Given the description of an element on the screen output the (x, y) to click on. 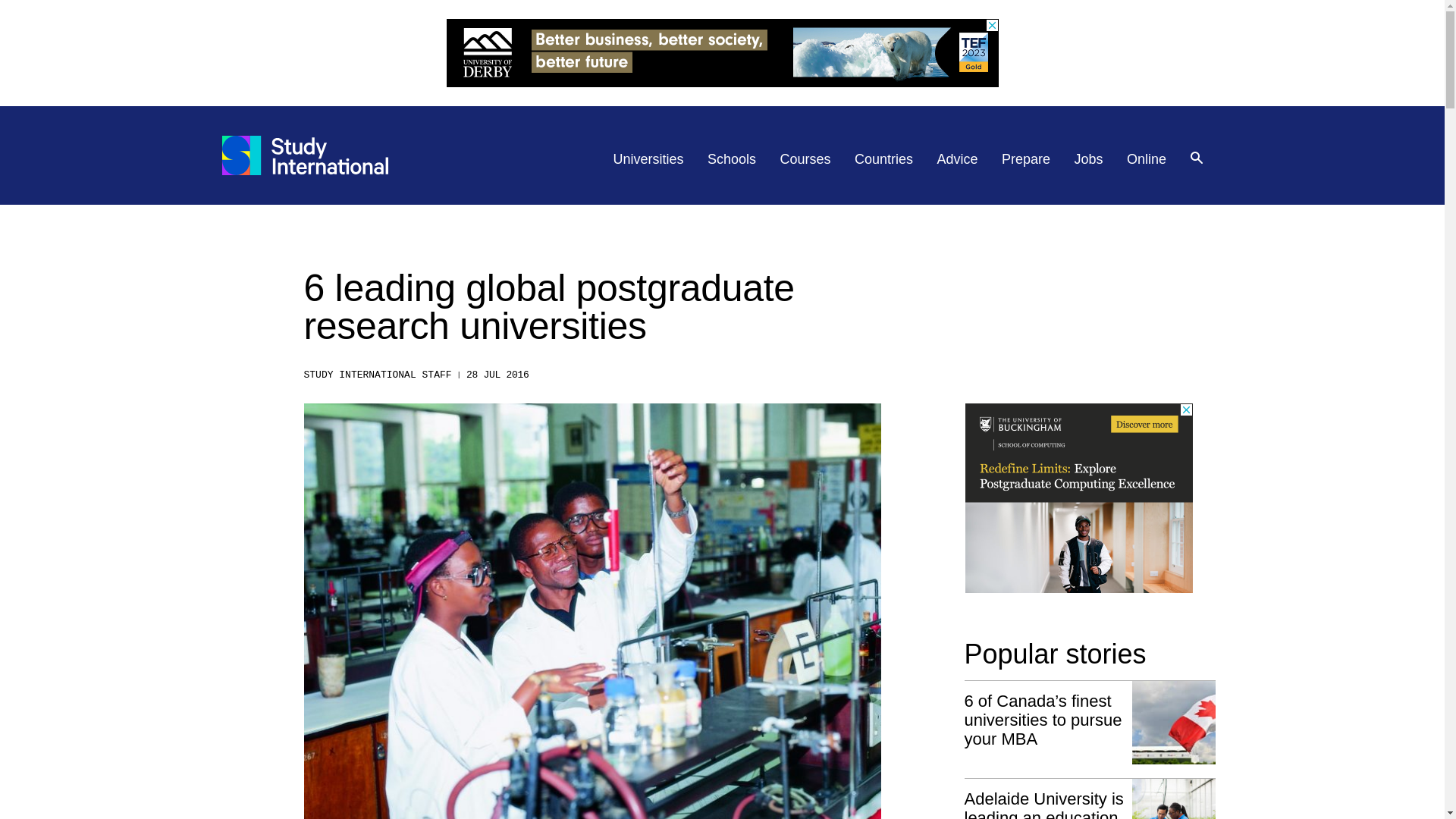
Schools (731, 159)
Countries (883, 159)
3rd party ad content (1078, 497)
Prepare (1025, 159)
Jobs (1088, 159)
Advice (957, 159)
Online (1146, 159)
Universities (648, 159)
Courses (805, 159)
STUDY INTERNATIONAL STAFF (376, 374)
3rd party ad content (721, 52)
